Given the description of an element on the screen output the (x, y) to click on. 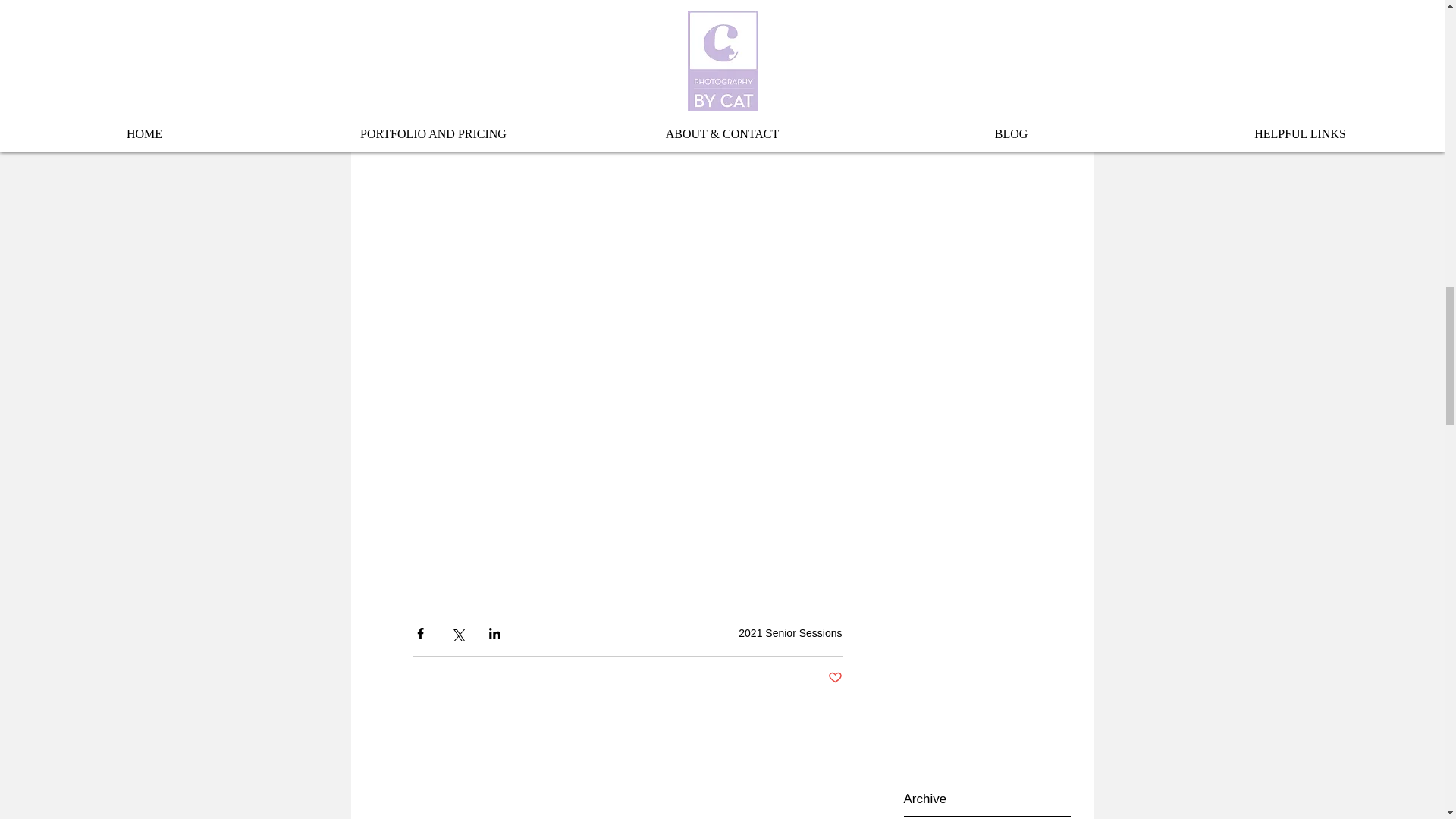
2021 Senior Sessions (789, 633)
Post not marked as liked (835, 678)
